Given the description of an element on the screen output the (x, y) to click on. 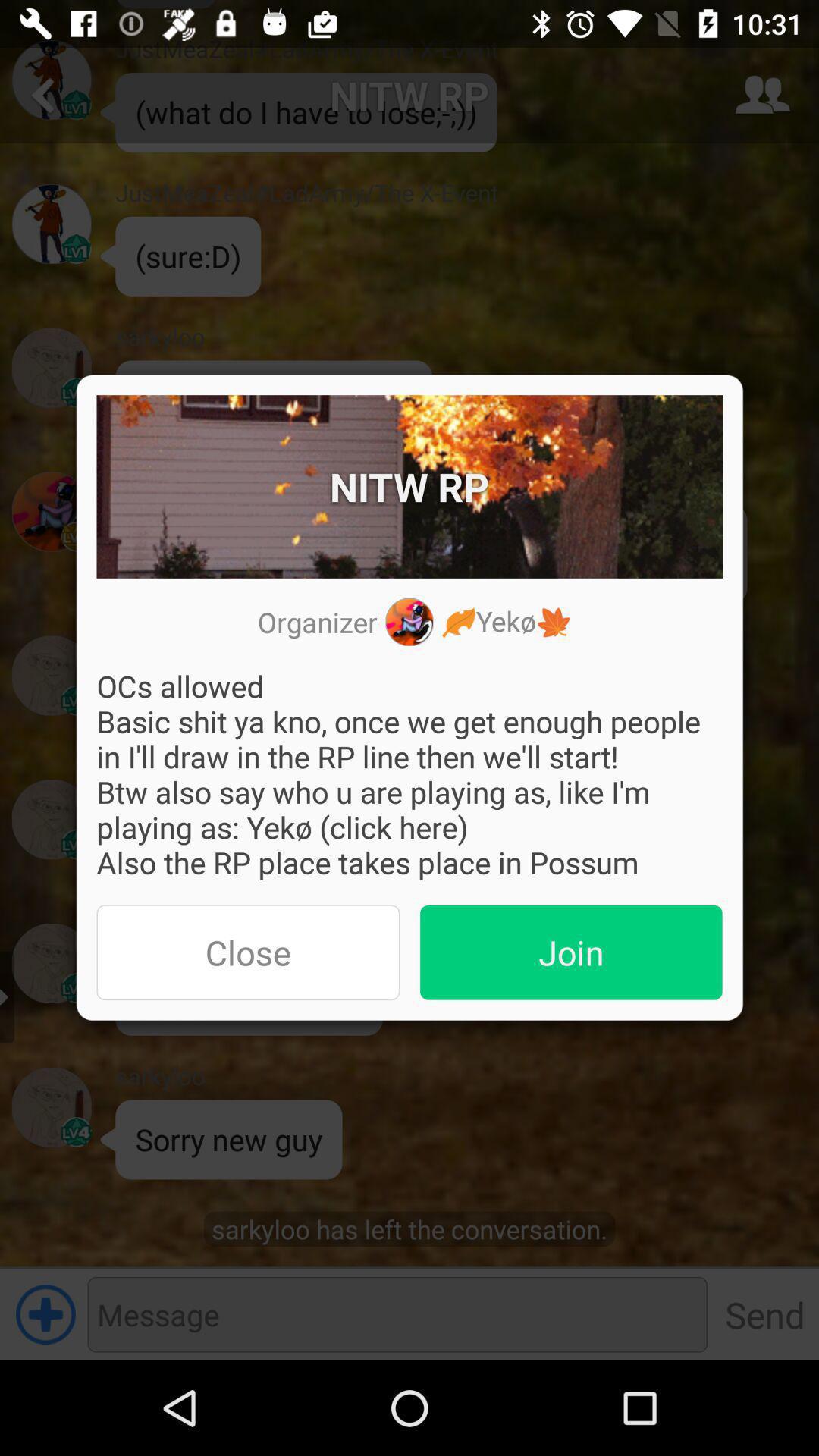
turn off the icon below the ocs allowed basic icon (570, 952)
